Given the description of an element on the screen output the (x, y) to click on. 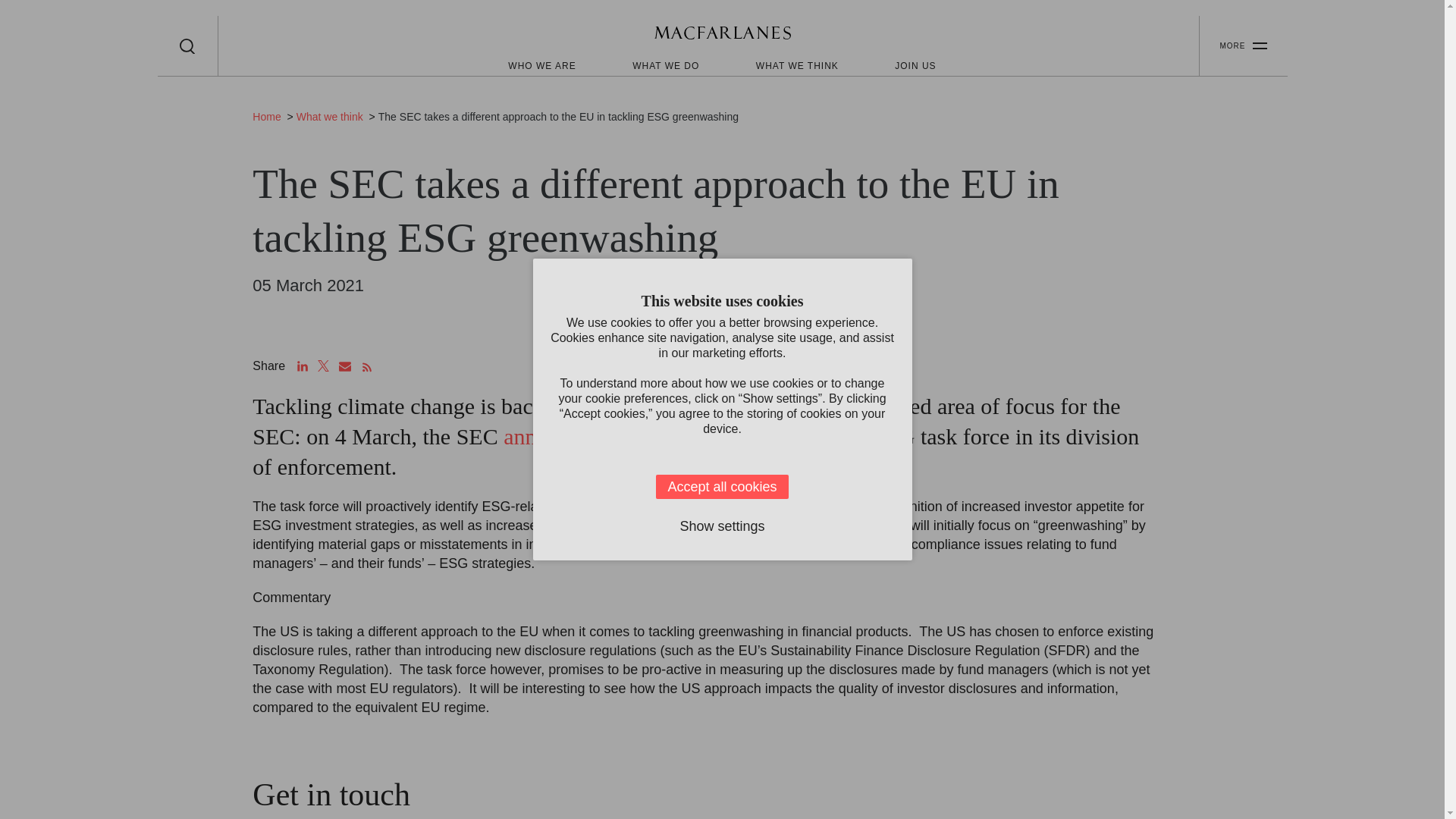
WHAT WE THINK (796, 65)
Search (187, 46)
WHO WE ARE (541, 65)
WHAT WE DO (664, 65)
MACFARLANES (721, 35)
